Given the description of an element on the screen output the (x, y) to click on. 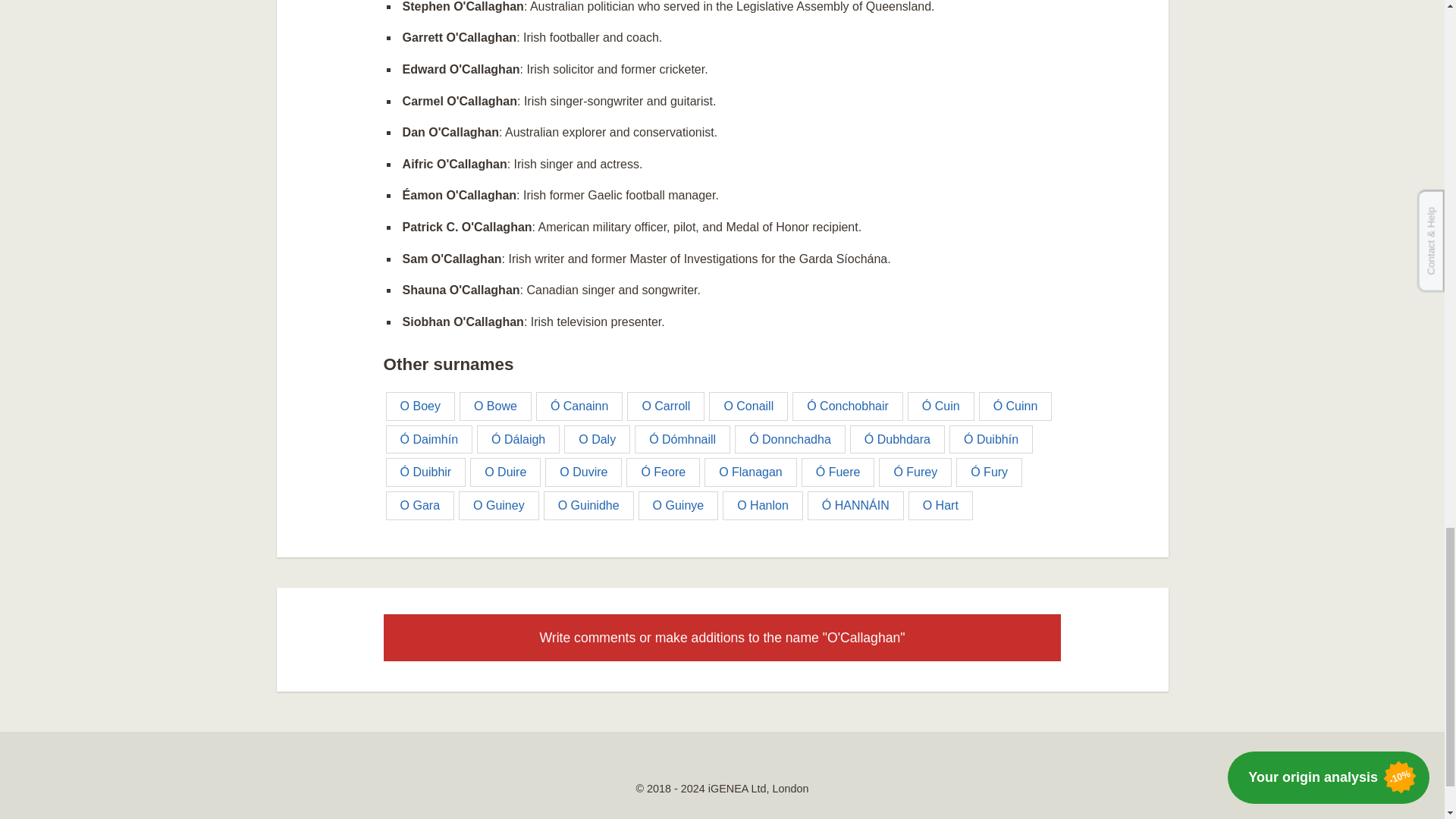
O Daly (597, 439)
Origin and meaning surname O Conaill (748, 406)
O Conaill (748, 406)
O Bowe (495, 406)
O Guinidhe (588, 505)
O Hart (940, 505)
Origin and meaning surname O Boey (419, 406)
O Guinye (679, 505)
Origin and meaning surname O Duvire (582, 471)
O Duvire (582, 471)
